Given the description of an element on the screen output the (x, y) to click on. 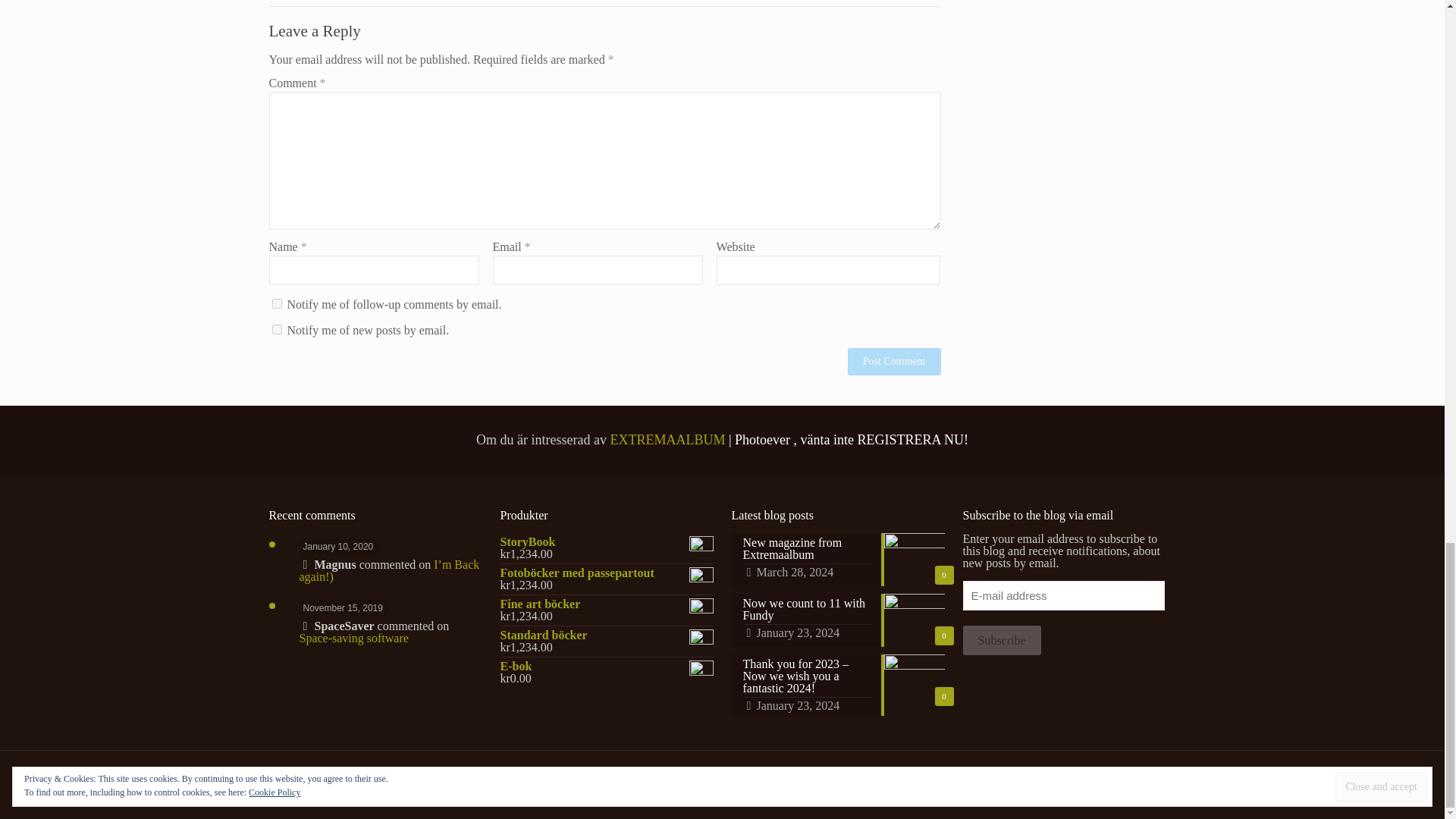
Post Comment (893, 361)
subscribe (275, 329)
YouTube (1110, 779)
subscribe (275, 303)
Facebook (1079, 779)
